Given the description of an element on the screen output the (x, y) to click on. 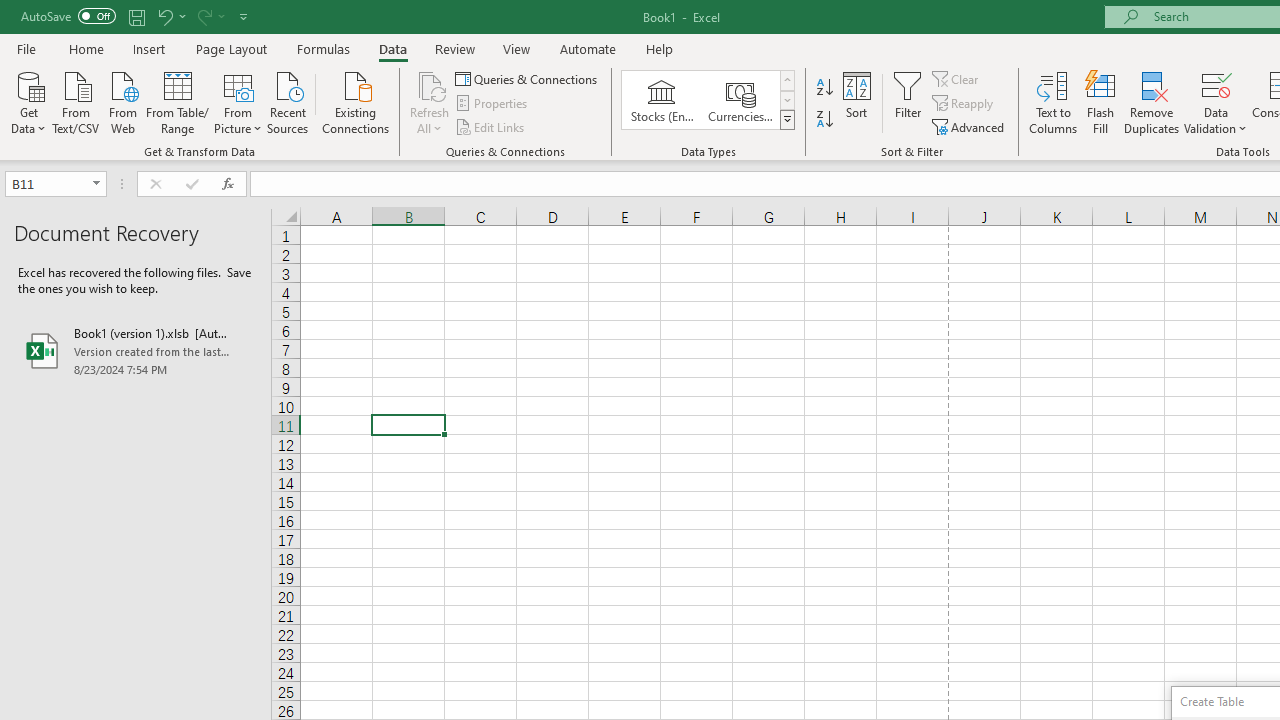
Currencies (English) (740, 100)
Text to Columns... (1053, 102)
From Picture (238, 101)
Save (136, 15)
Row up (786, 79)
Quick Access Toolbar (136, 16)
Row Down (786, 100)
Advanced... (970, 126)
Properties (492, 103)
Sort Z to A (824, 119)
